Given the description of an element on the screen output the (x, y) to click on. 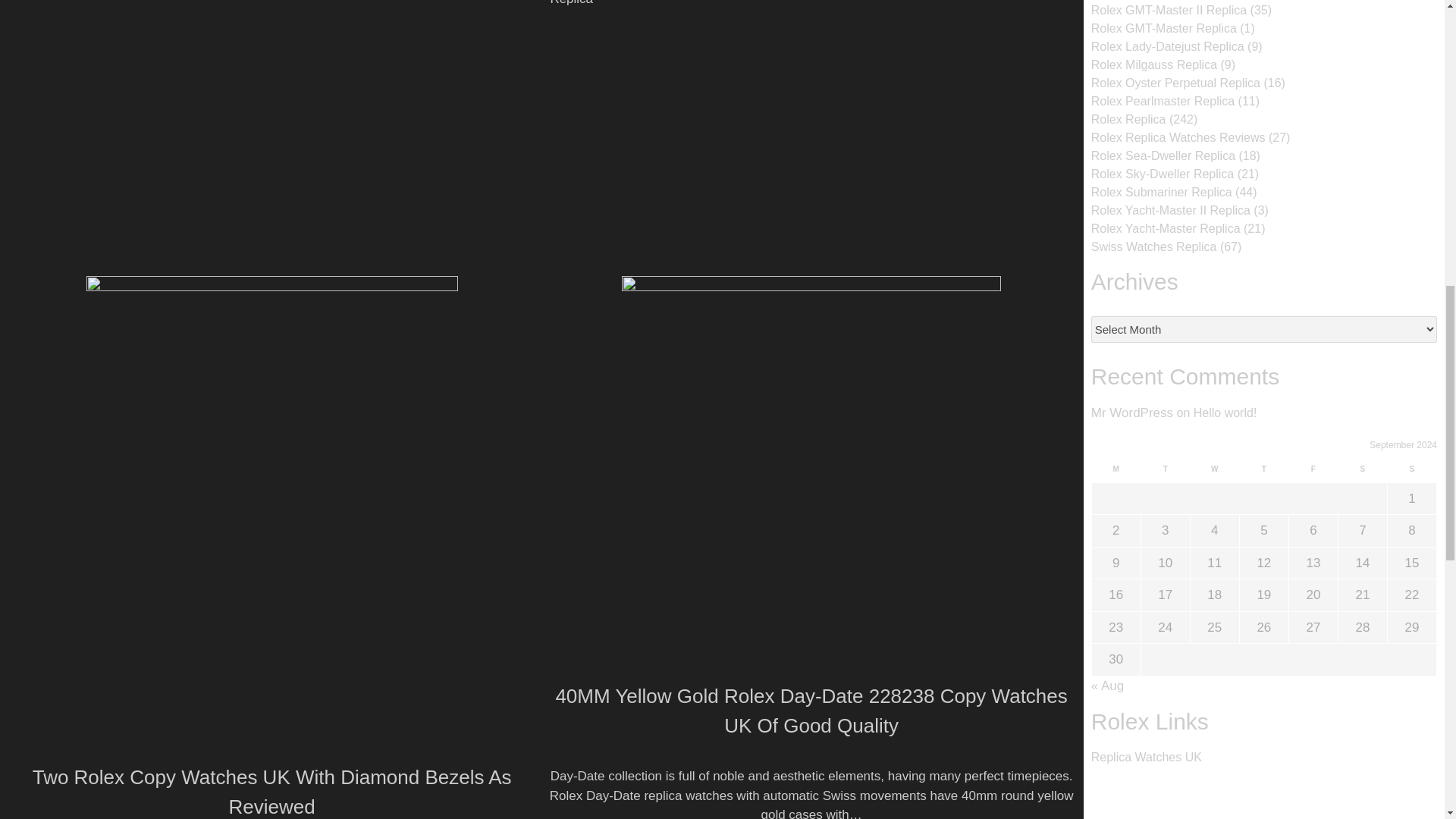
Saturday (1362, 473)
Two Rolex Copy Watches UK With Diamond Bezels As Reviewed (272, 791)
Rolex GMT-Master Replica (1163, 28)
Rolex GMT-Master II Replica (1168, 10)
Monday (1115, 473)
Thursday (1263, 473)
Tuesday (1164, 473)
Friday (1313, 473)
Rolex Lady-Datejust Replica (1167, 46)
